Given the description of an element on the screen output the (x, y) to click on. 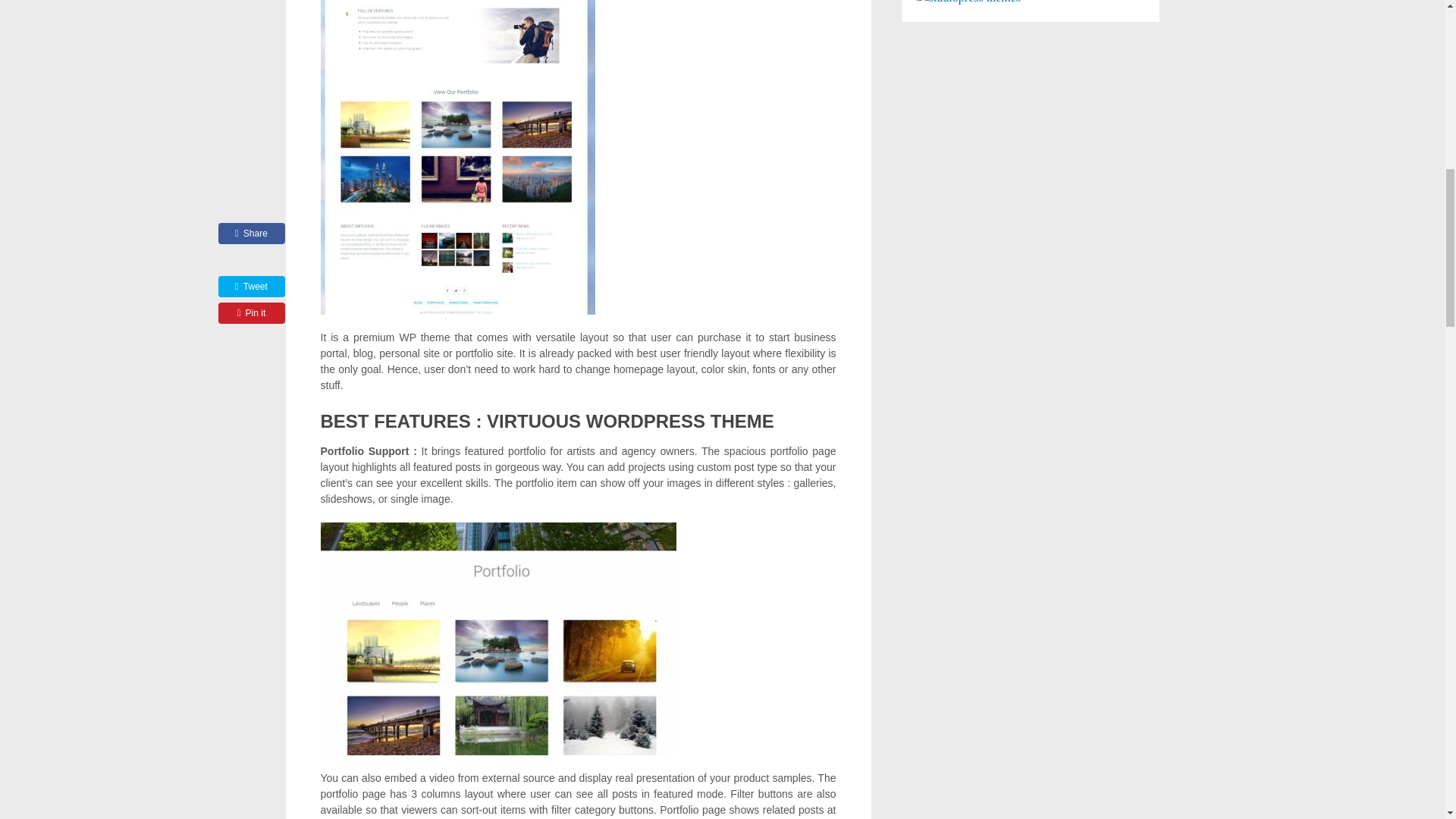
StudioPress Themes (968, 2)
Virtuous WordPress Portfolio Theme : CPOThemes (497, 638)
